Given the description of an element on the screen output the (x, y) to click on. 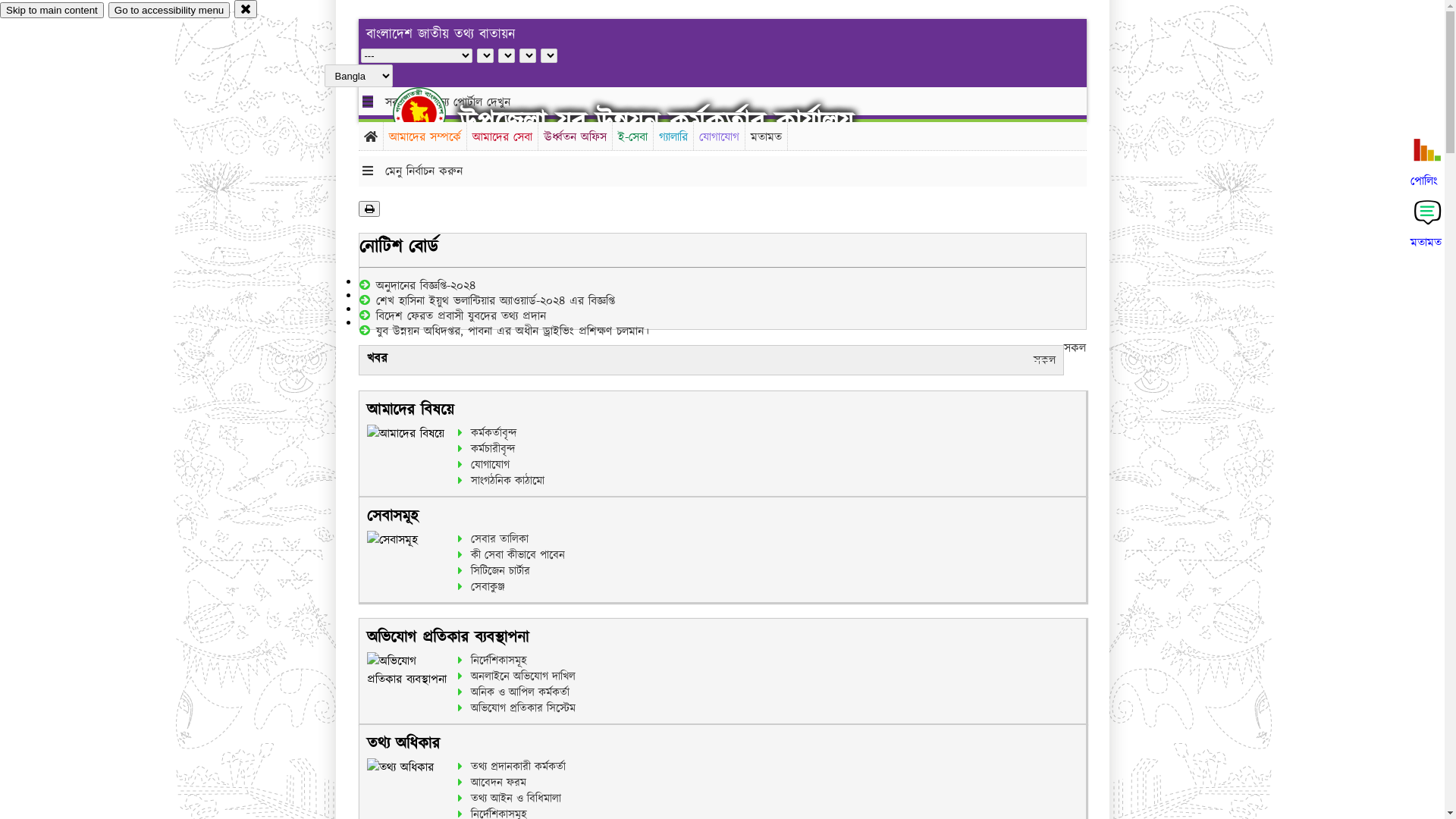
Go to accessibility menu Element type: text (168, 10)
Skip to main content Element type: text (51, 10)
close Element type: hover (245, 9)

                
             Element type: hover (431, 112)
